Given the description of an element on the screen output the (x, y) to click on. 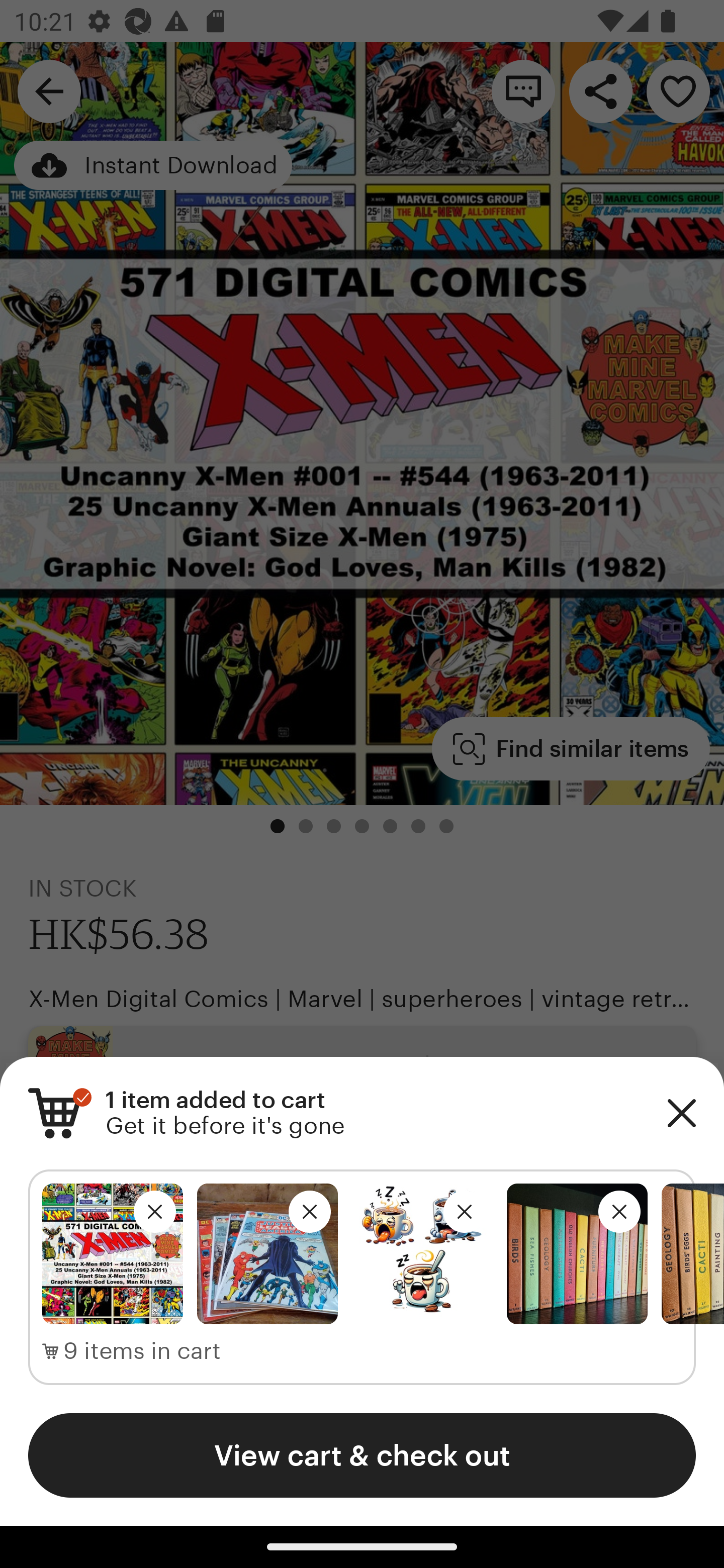
9 items in cart (131, 1351)
View cart & check out (361, 1454)
